Given the description of an element on the screen output the (x, y) to click on. 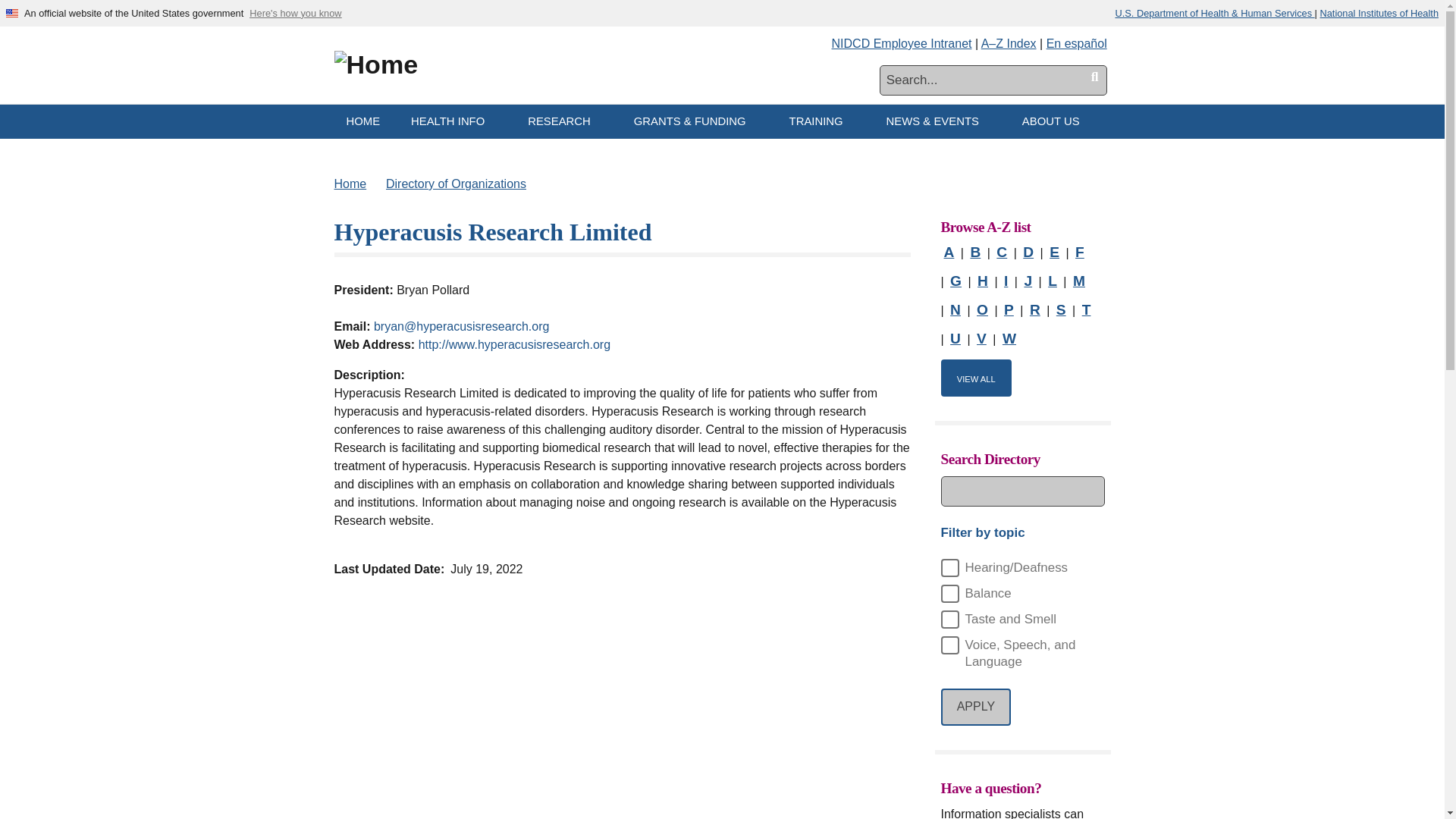
HOME (362, 121)
Directory of Organizations (455, 183)
Home (375, 64)
Home (349, 183)
Type search term here (992, 80)
NIDCD Employee Intranet (901, 42)
TRAINING (822, 121)
HEALTH INFO (453, 121)
Apply (975, 706)
ABOUT US (1056, 121)
